Given the description of an element on the screen output the (x, y) to click on. 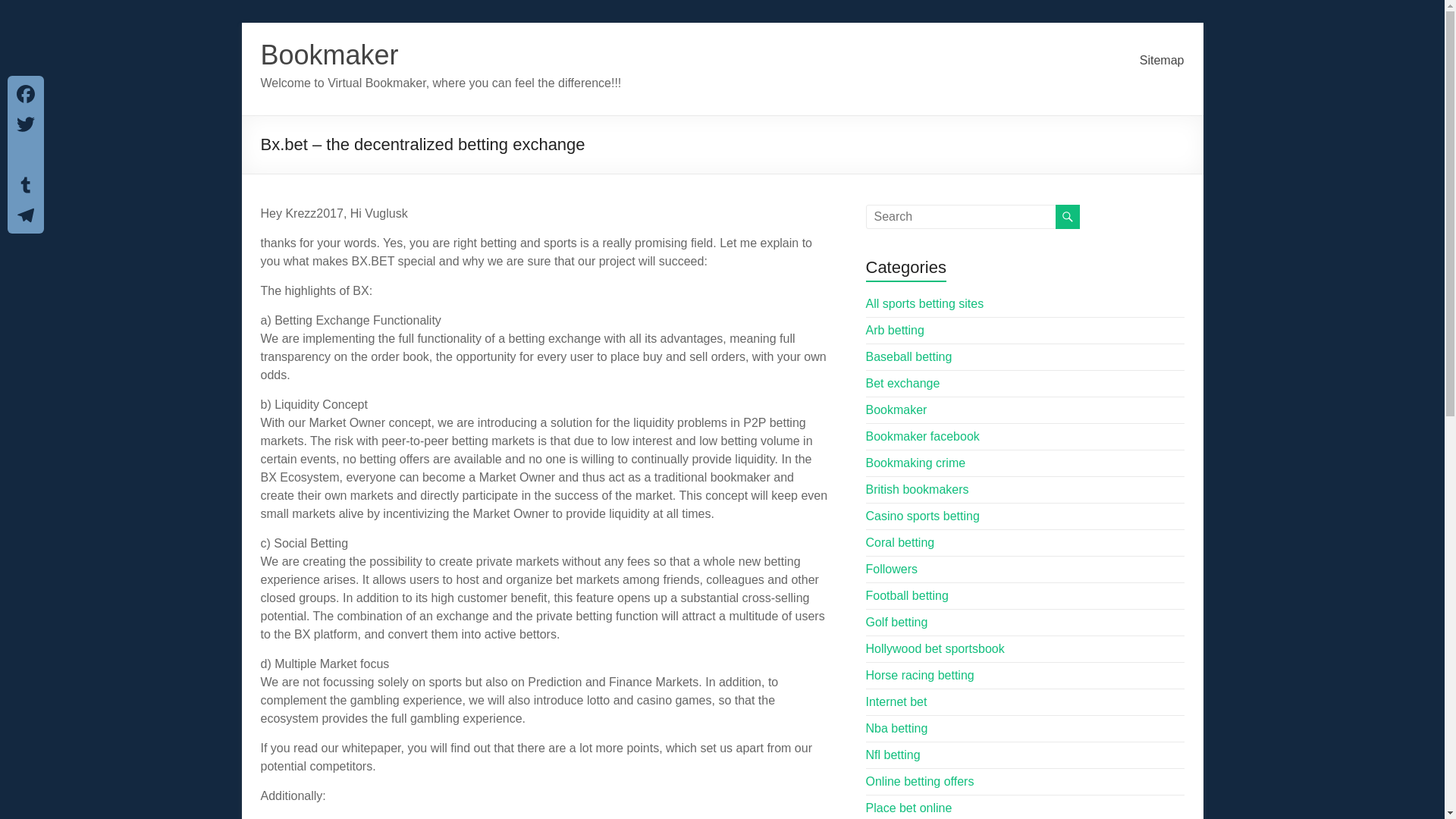
Bookmaker (329, 54)
Baseball betting (909, 356)
Casino sports betting (922, 515)
Sitemap (1162, 60)
Bookmaker (896, 409)
Bookmaking crime (916, 462)
Telegram (25, 214)
Twitter (25, 123)
Place bet online (909, 807)
Nfl betting (893, 754)
Tumblr (25, 184)
Bookmaker (329, 54)
Pinterest (25, 154)
Followers (891, 568)
Hollywood bet sportsbook (935, 648)
